Given the description of an element on the screen output the (x, y) to click on. 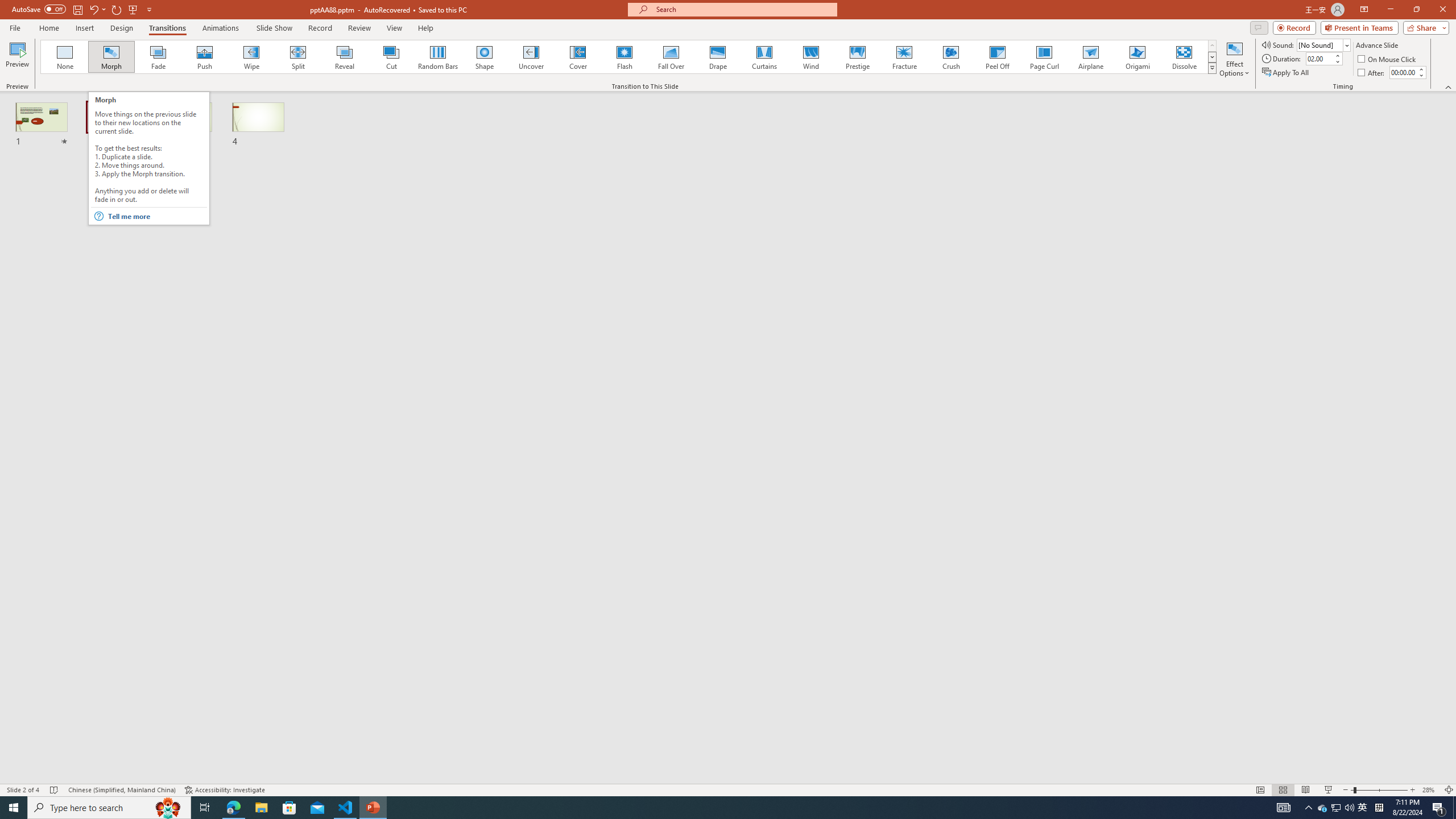
Duration (1319, 58)
Fracture (903, 56)
Flash (624, 56)
Apply To All (1286, 72)
Reveal (344, 56)
Page Curl (1043, 56)
